Given the description of an element on the screen output the (x, y) to click on. 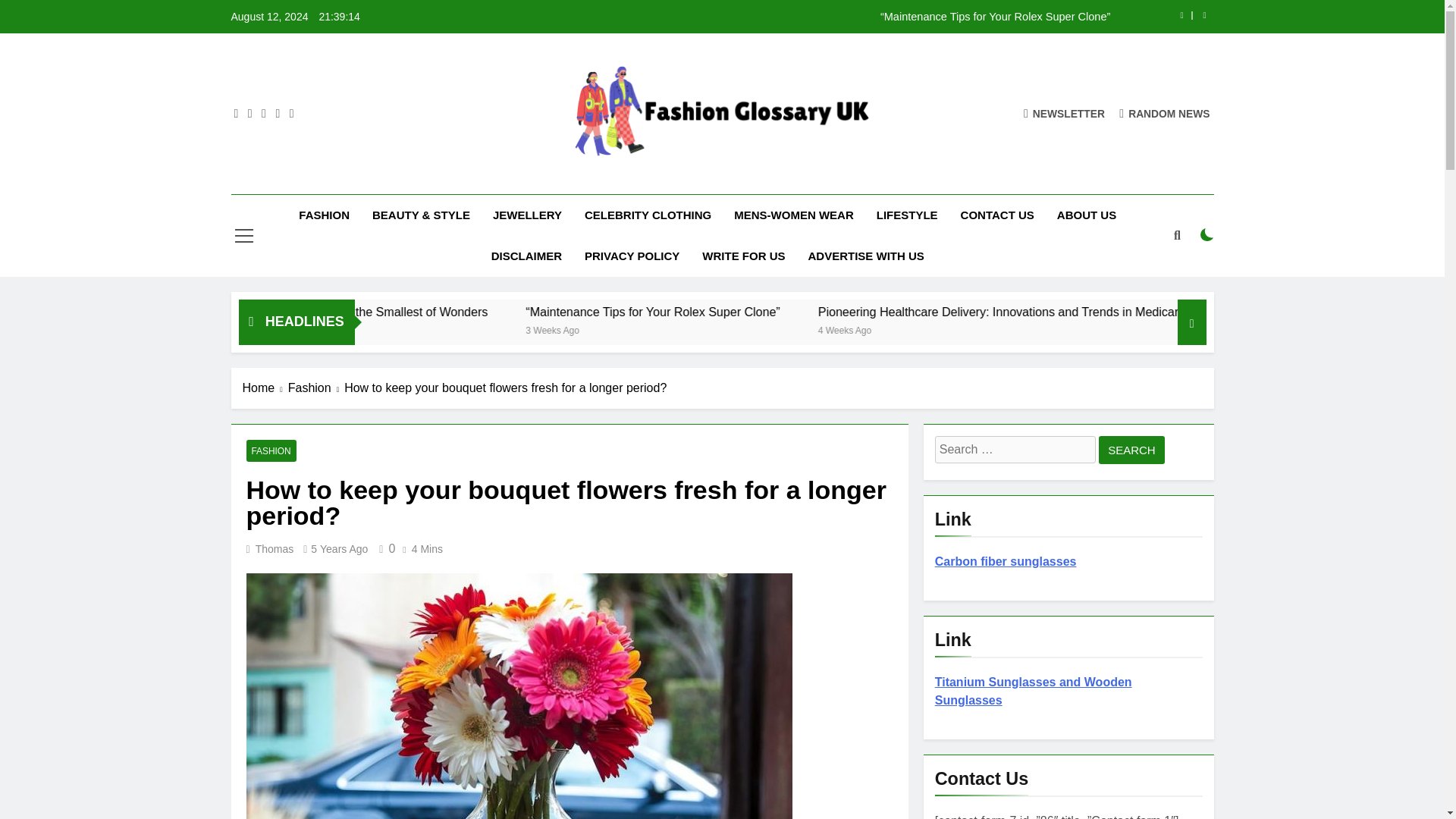
NEWSLETTER (1064, 113)
RANDOM NEWS (1164, 113)
on (1206, 234)
PRIVACY POLICY (631, 255)
MENS-WOMEN WEAR (793, 214)
CELEBRITY CLOTHING (647, 214)
ABOUT US (1085, 214)
Search (1131, 449)
Search (1131, 449)
ADVERTISE WITH US (865, 255)
